Given the description of an element on the screen output the (x, y) to click on. 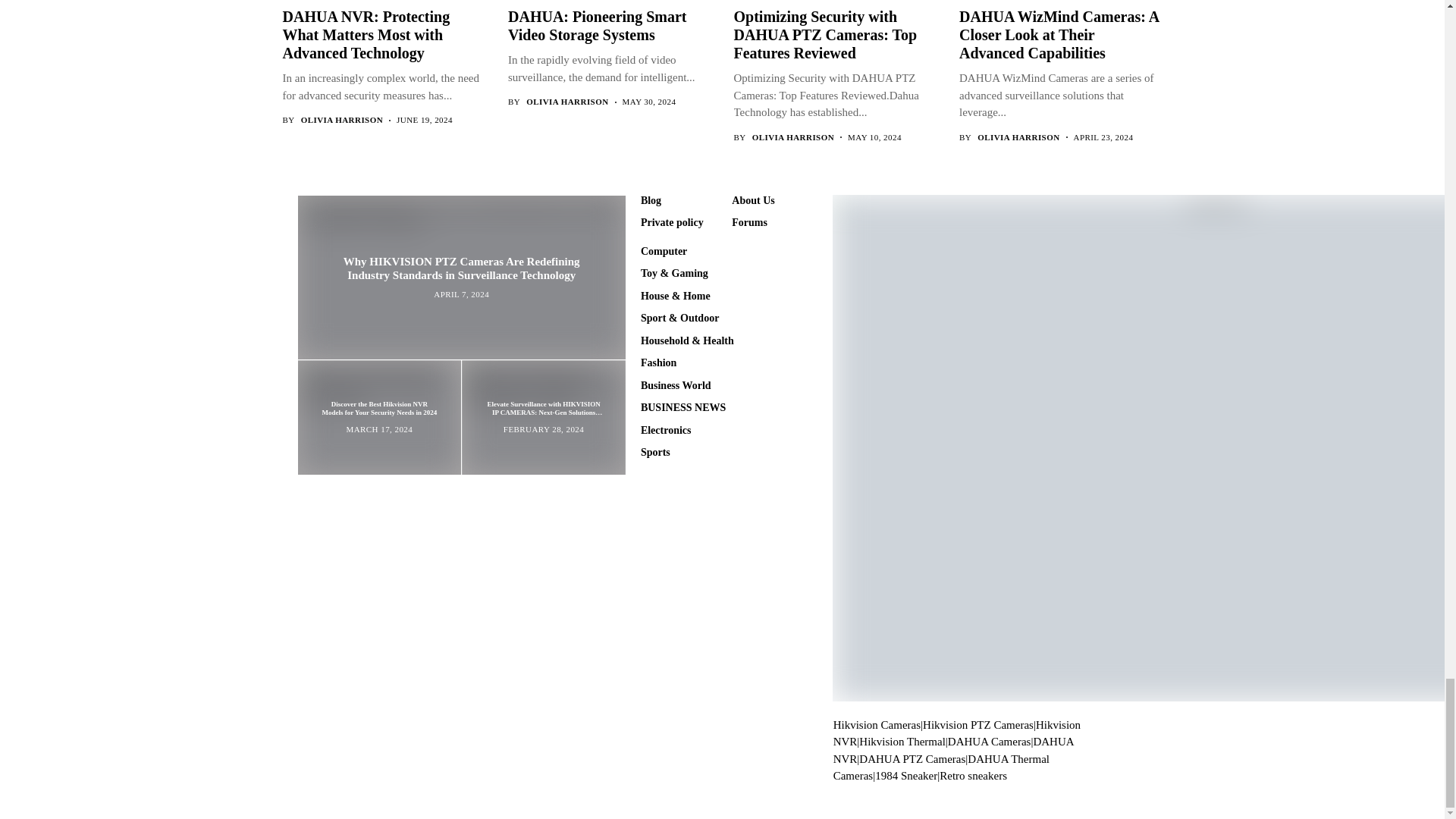
Posts by Olivia Harrison (1017, 137)
Posts by Olivia Harrison (341, 120)
Posts by Olivia Harrison (793, 137)
Posts by Olivia Harrison (566, 102)
